Given the description of an element on the screen output the (x, y) to click on. 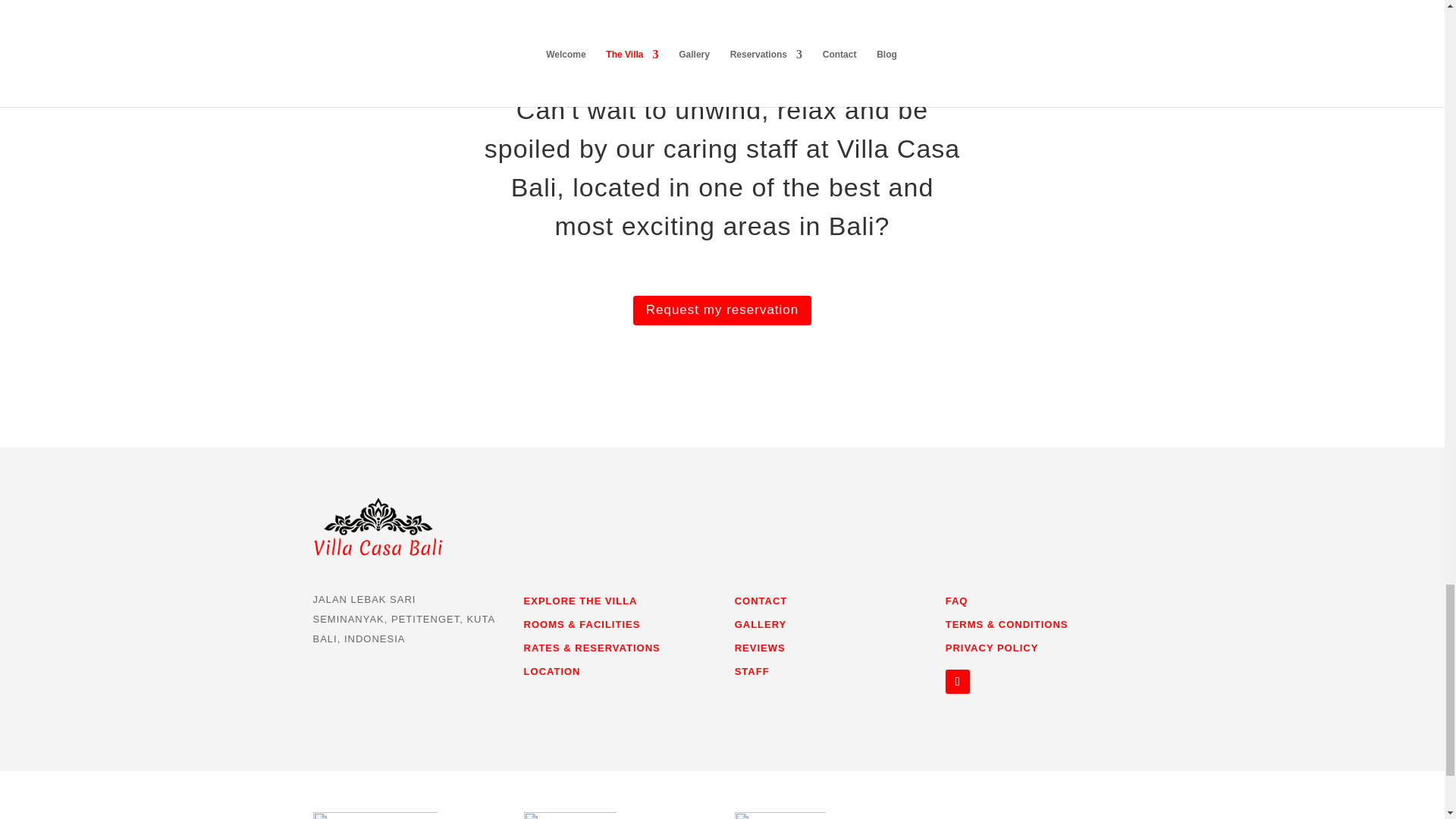
Villa Casa Bali Logo (377, 525)
REVIEWS (760, 647)
Tripadvisor (375, 815)
FAQ (956, 600)
Request my reservation (722, 310)
GALLERY (761, 624)
EXPLORE THE VILLA (580, 600)
CONTACT (761, 600)
vrbo (780, 815)
Follow on Instagram (956, 681)
